Given the description of an element on the screen output the (x, y) to click on. 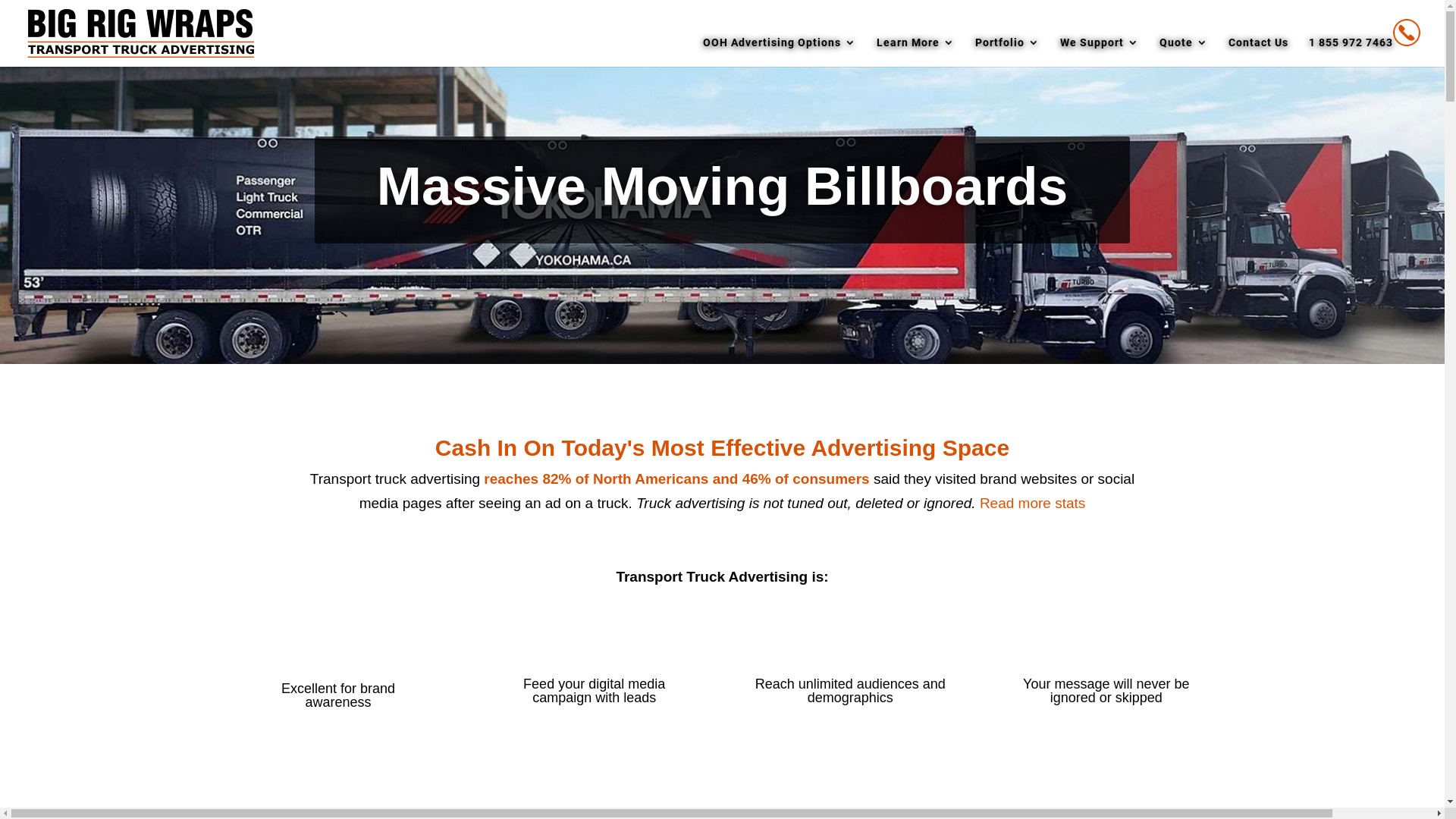
OOH Advertising Options Element type: text (779, 51)
1 855 972 7463 Element type: text (1364, 42)
Contact Us Element type: text (1258, 51)
reaches 82% of North Americans Element type: text (595, 478)
Learn More Element type: text (915, 51)
Portfolio Element type: text (1007, 51)
Read more stats Element type: text (1032, 503)
We Support Element type: text (1099, 51)
Quote Element type: text (1183, 51)
